Given the description of an element on the screen output the (x, y) to click on. 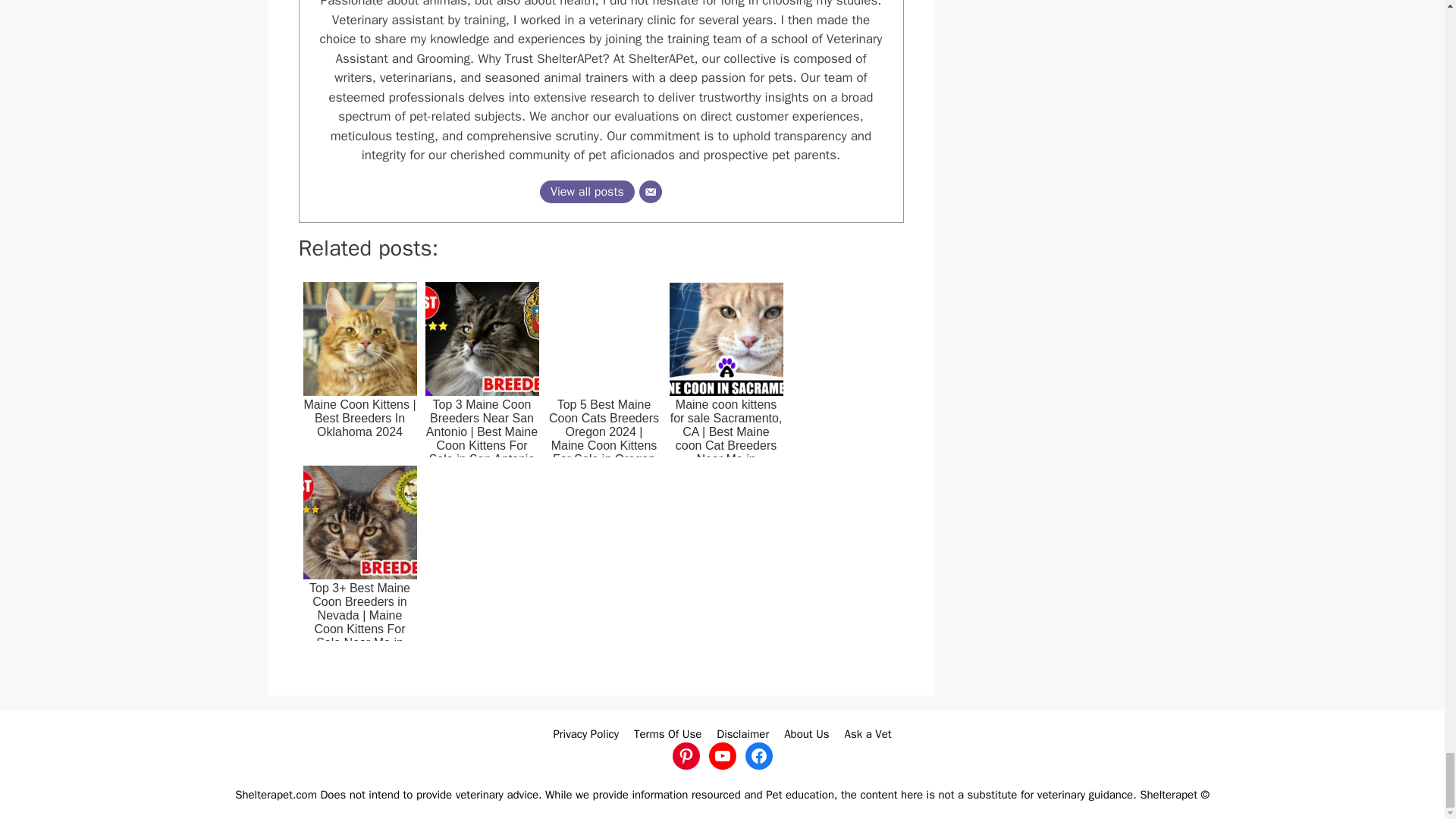
Terms Of Use (667, 734)
View all posts (587, 191)
Privacy Policy (585, 734)
View all posts (587, 191)
